Given the description of an element on the screen output the (x, y) to click on. 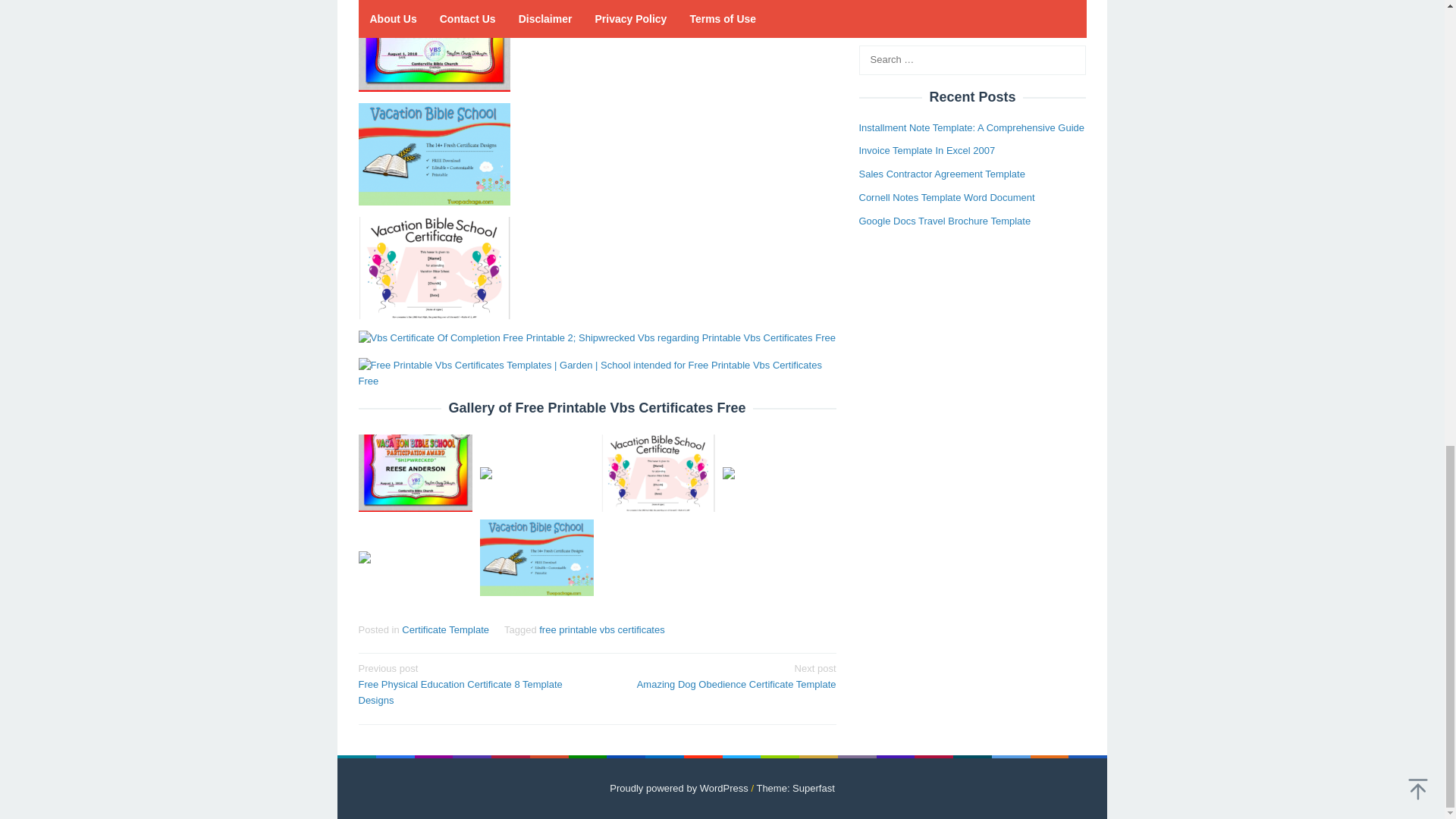
Proudly powered by WordPress (679, 787)
Free Printable Vbs Certificates Free 5 (596, 373)
free printable vbs certificates (600, 629)
Theme: Superfast (794, 787)
Certificate Template (445, 629)
Free Printable Vbs Certificates Free 1 (721, 675)
